Given the description of an element on the screen output the (x, y) to click on. 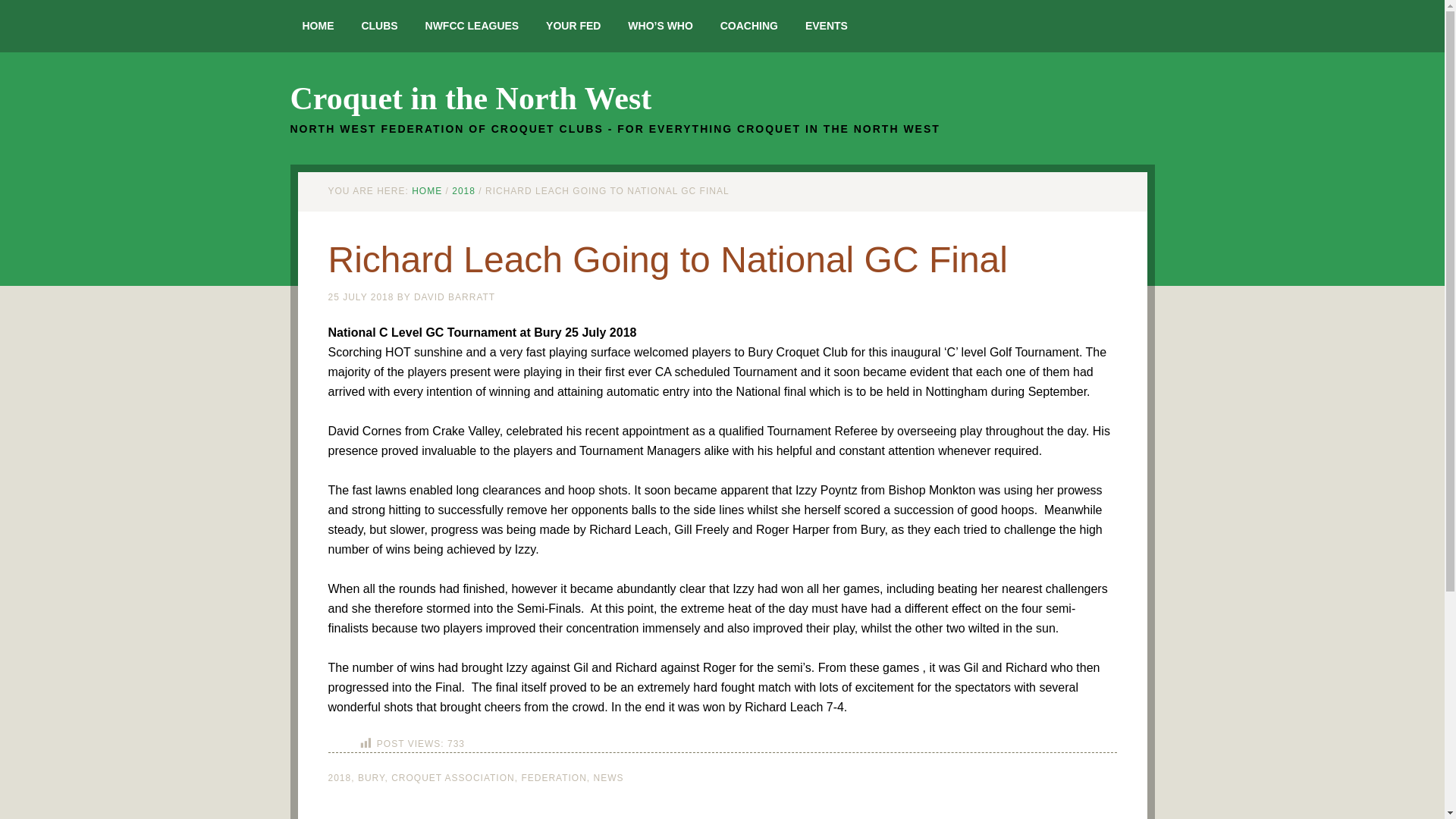
Croquet in the North West (469, 98)
HOME (427, 190)
BURY (371, 777)
2018 (338, 777)
HOME (317, 26)
NWFCC LEAGUES (472, 26)
CLUBS (379, 26)
CROQUET ASSOCIATION (453, 777)
2018 (463, 190)
FEDERATION (553, 777)
